Given the description of an element on the screen output the (x, y) to click on. 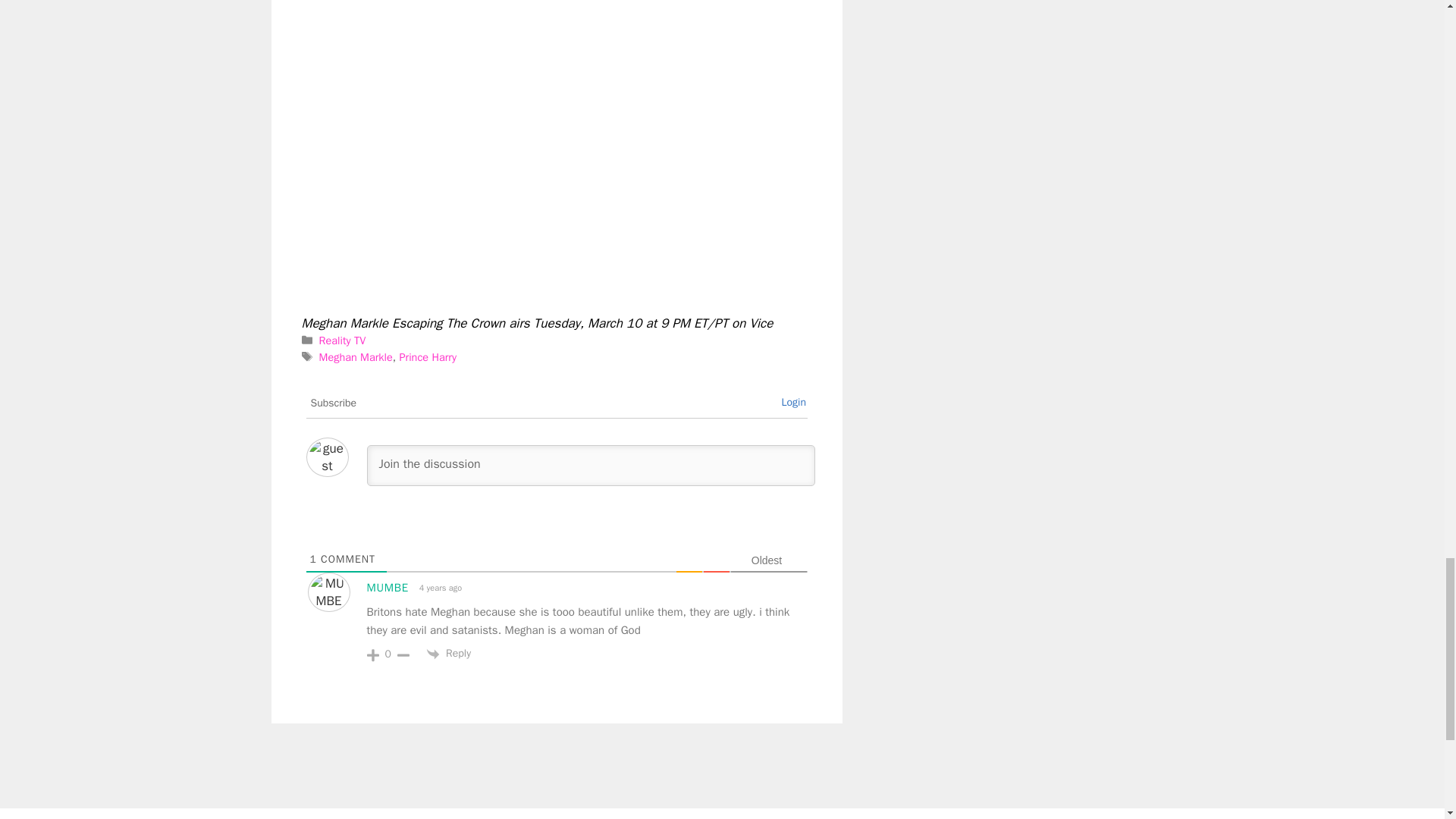
Prince Harry (427, 356)
Login (793, 401)
Reality TV (342, 340)
0 (387, 653)
Meghan Markle (355, 356)
4th May 2020 2:08 am EDT (438, 587)
